Given the description of an element on the screen output the (x, y) to click on. 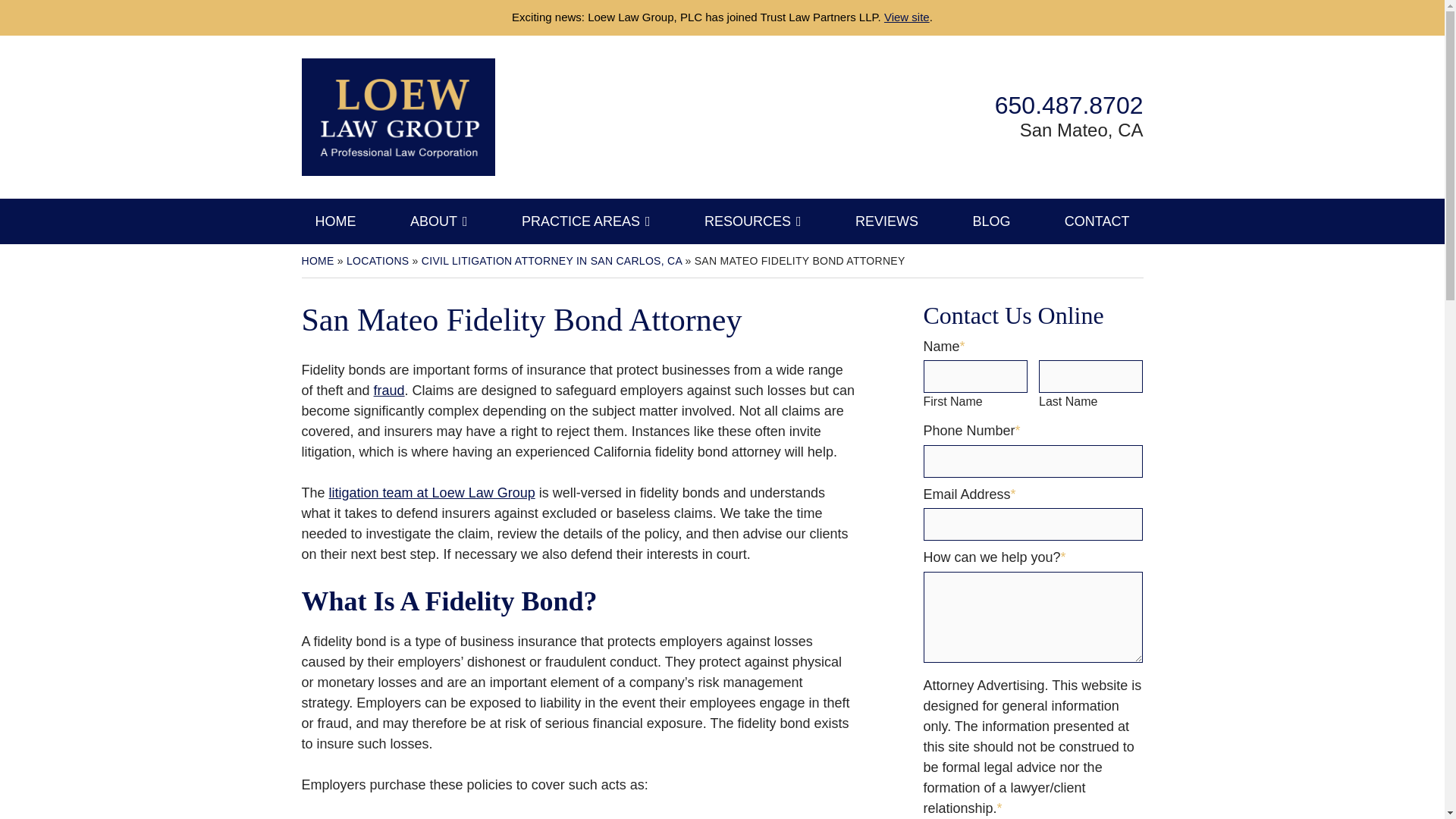
650.487.8702 (1068, 104)
View site (906, 16)
HOME (335, 221)
ABOUT (438, 221)
PRACTICE AREAS (585, 221)
